Given the description of an element on the screen output the (x, y) to click on. 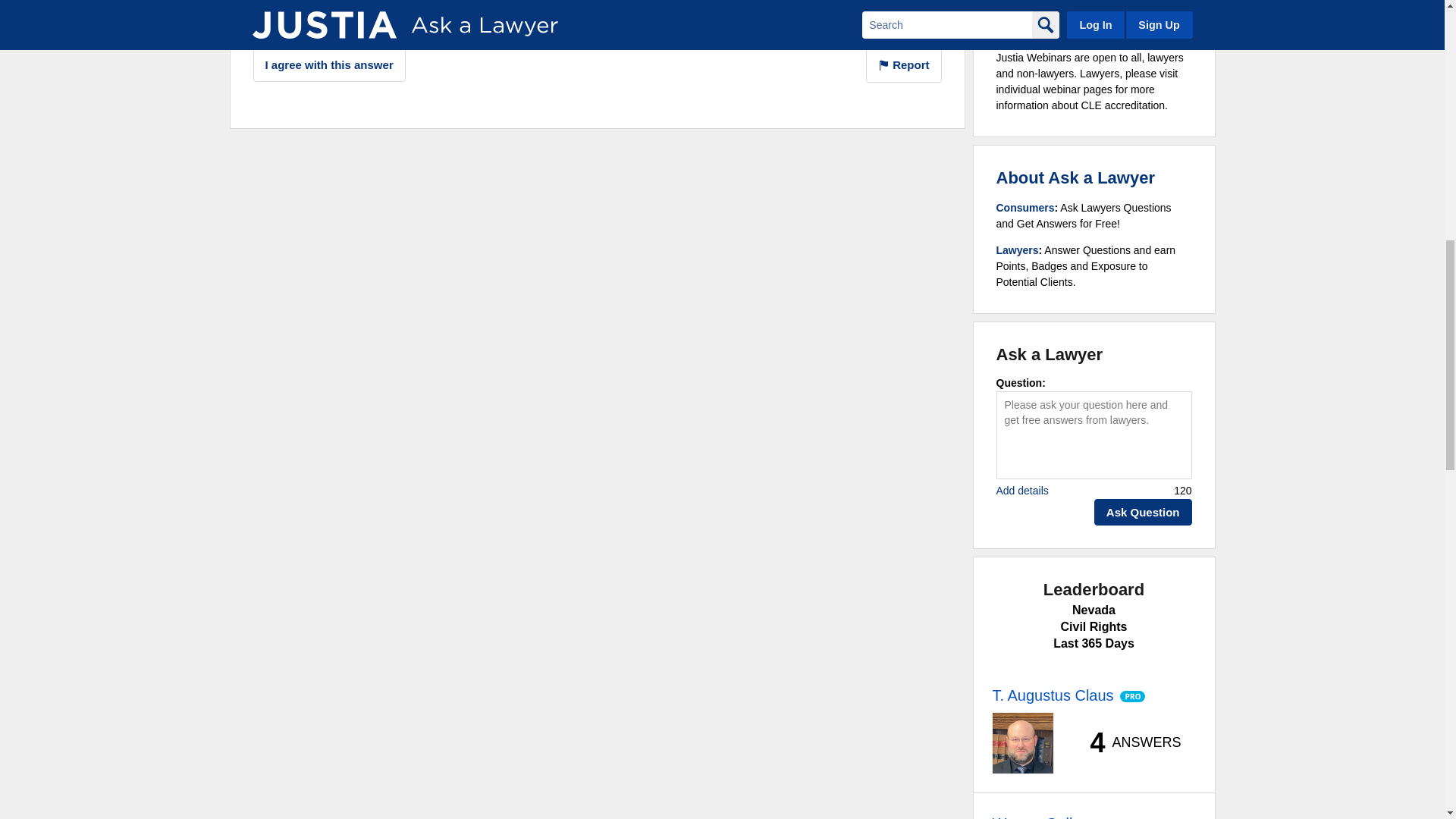
Ask a Lawyer - Leaderboard - Lawyer Stats (1127, 742)
Ask a Lawyer - FAQs - Lawyers (1017, 250)
Ask a Lawyer - Leaderboard - Lawyer Name (1052, 694)
Ask a Lawyer - Leaderboard - Lawyer Photo (1021, 742)
Ask a Lawyer - FAQs - Consumers (1024, 207)
Ask a Lawyer - Leaderboard - Lawyer Name (1038, 815)
